Given the description of an element on the screen output the (x, y) to click on. 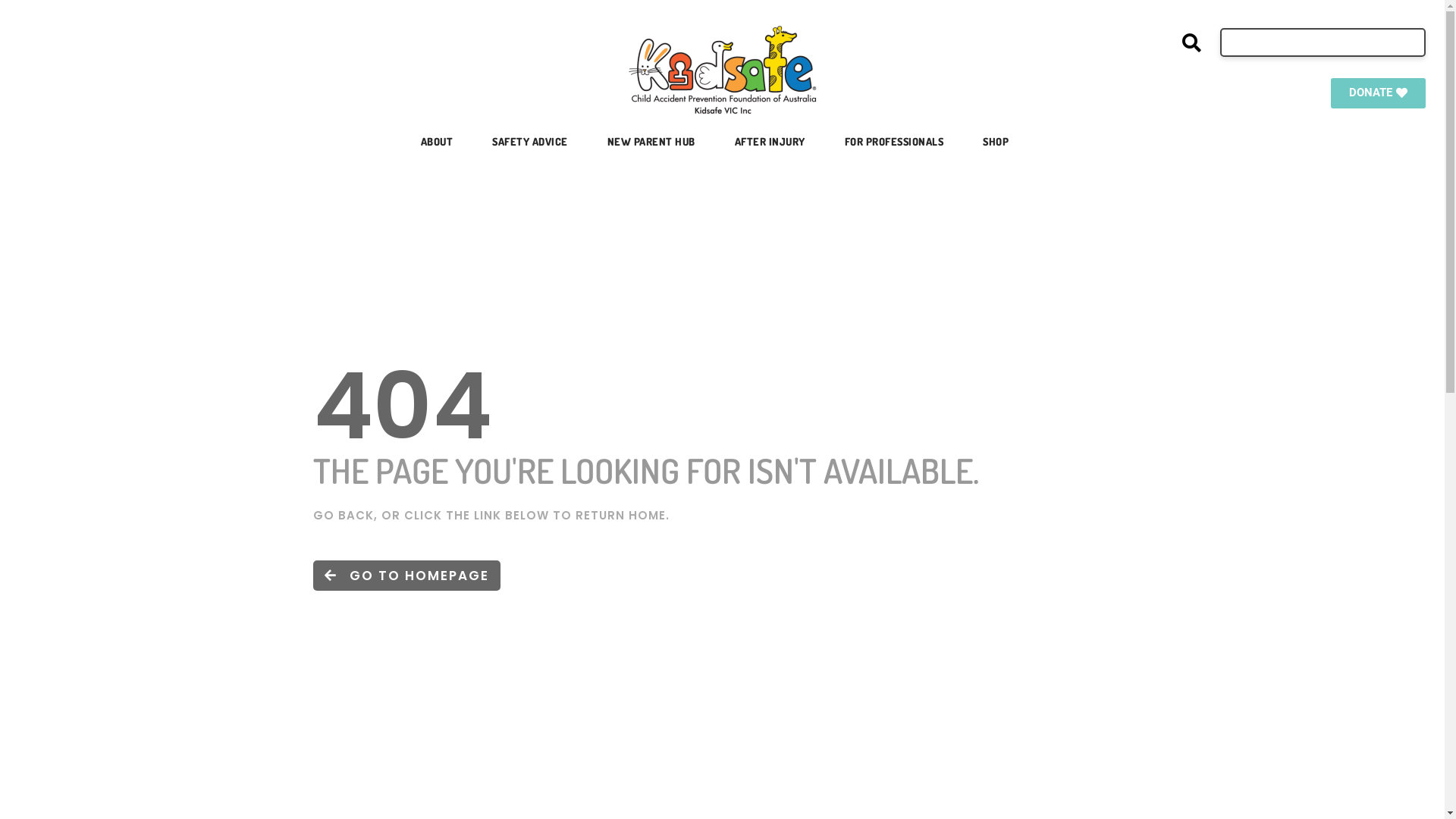
DONATE Element type: text (1377, 93)
SHOP Element type: text (995, 141)
AFTER INJURY Element type: text (769, 141)
FOR PROFESSIONALS Element type: text (894, 141)
SAFETY ADVICE Element type: text (530, 141)
NEW PARENT HUB Element type: text (651, 141)
Kidsafe VIC_WEB200PX Element type: hover (722, 69)
ABOUT Element type: text (436, 141)
GO TO HOMEPAGE Element type: text (405, 575)
